Given the description of an element on the screen output the (x, y) to click on. 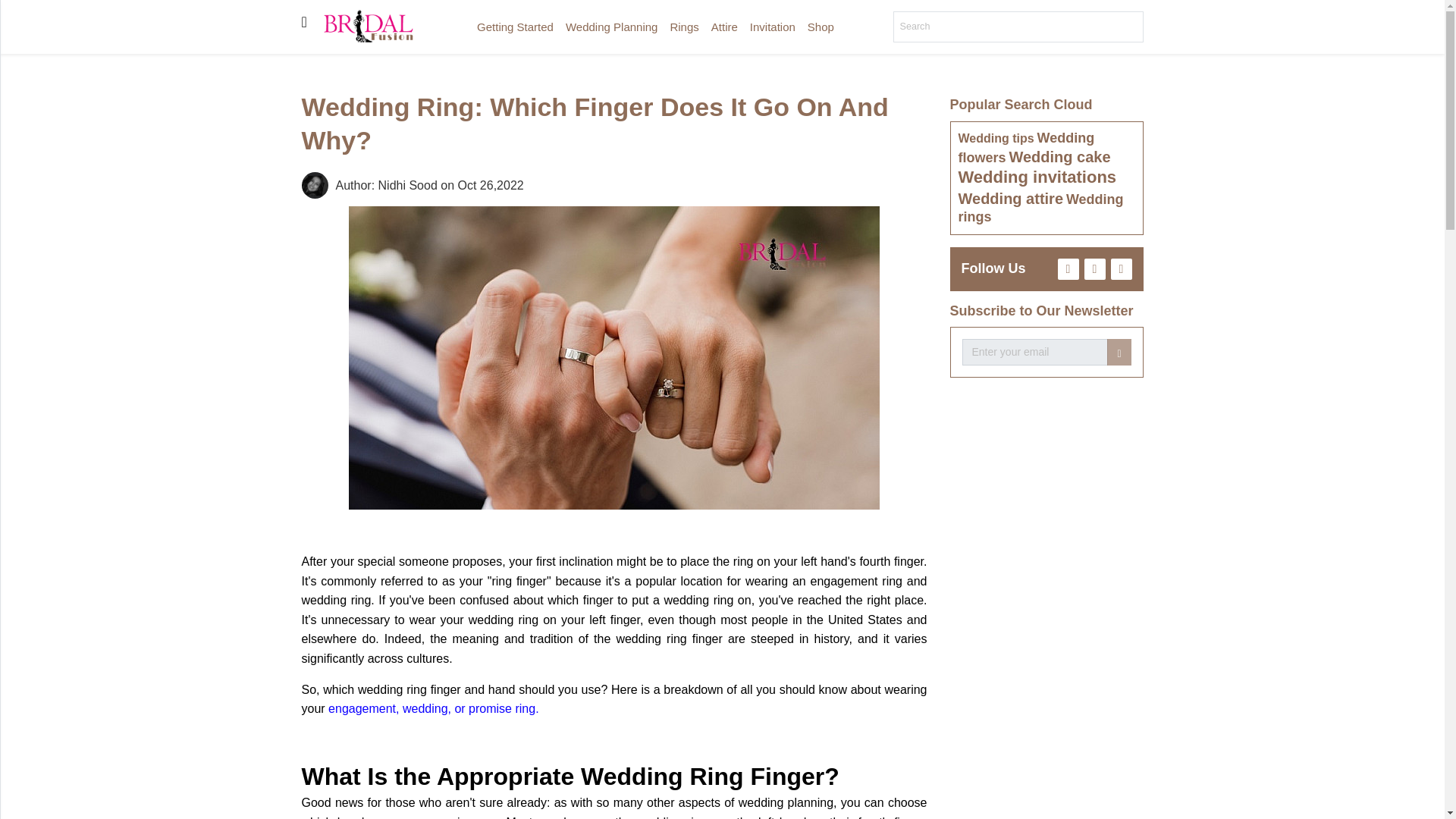
Invitation (15, 214)
Rings (683, 26)
Wedding invitations (1037, 176)
Wedding rings (1041, 207)
Relationships (15, 367)
Attire (724, 26)
Shop (15, 336)
Wedding tips (995, 137)
Home (15, 45)
Getting Started (514, 26)
Wedding attire (1011, 198)
Attire (15, 184)
Cake (15, 245)
Planning (15, 123)
Wedding Planning (611, 26)
